Given the description of an element on the screen output the (x, y) to click on. 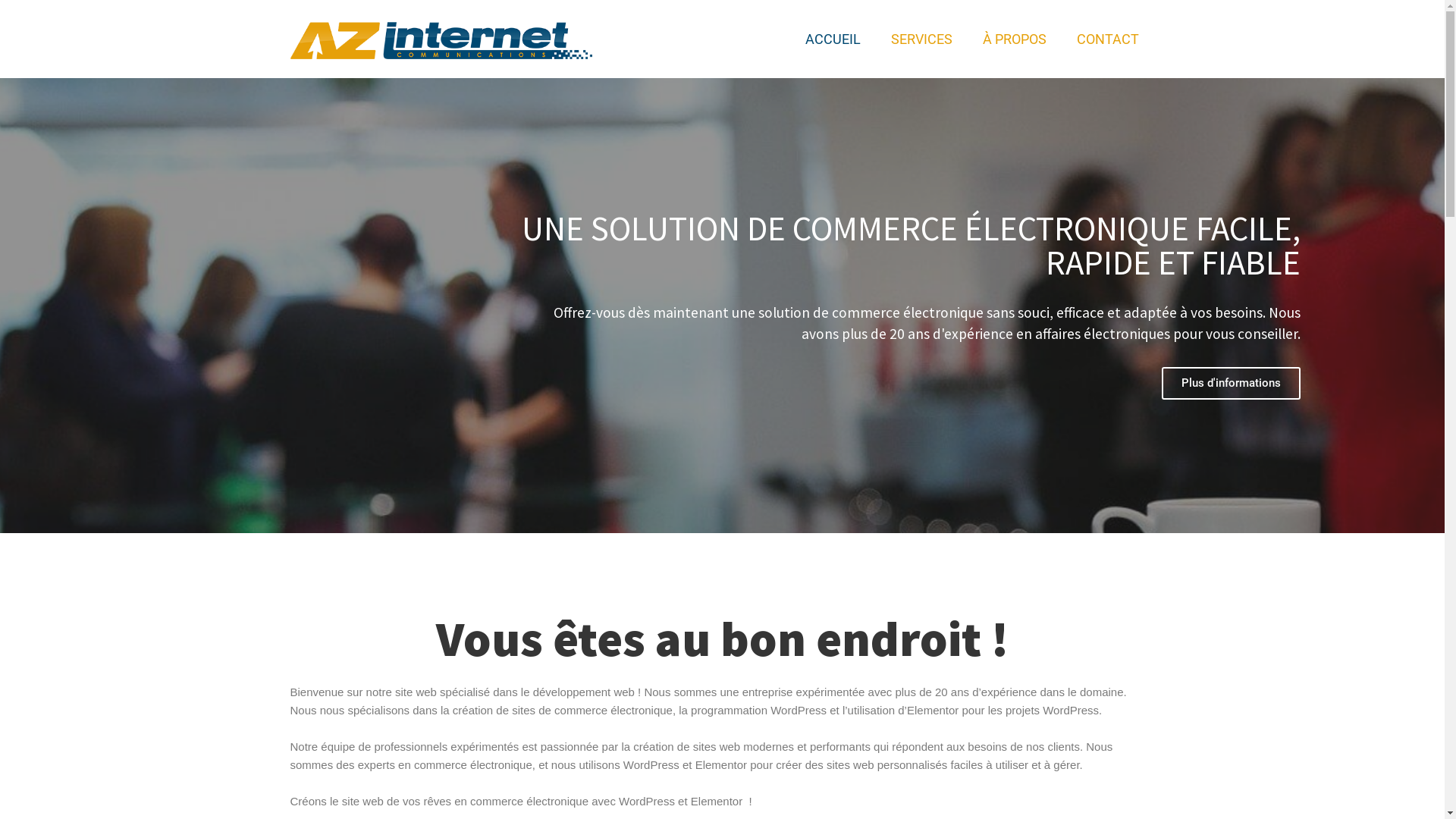
CONTACT Element type: text (1107, 38)
ACCUEIL Element type: text (832, 38)
Plus d'informations Element type: text (1230, 383)
SERVICES Element type: text (921, 38)
